Given the description of an element on the screen output the (x, y) to click on. 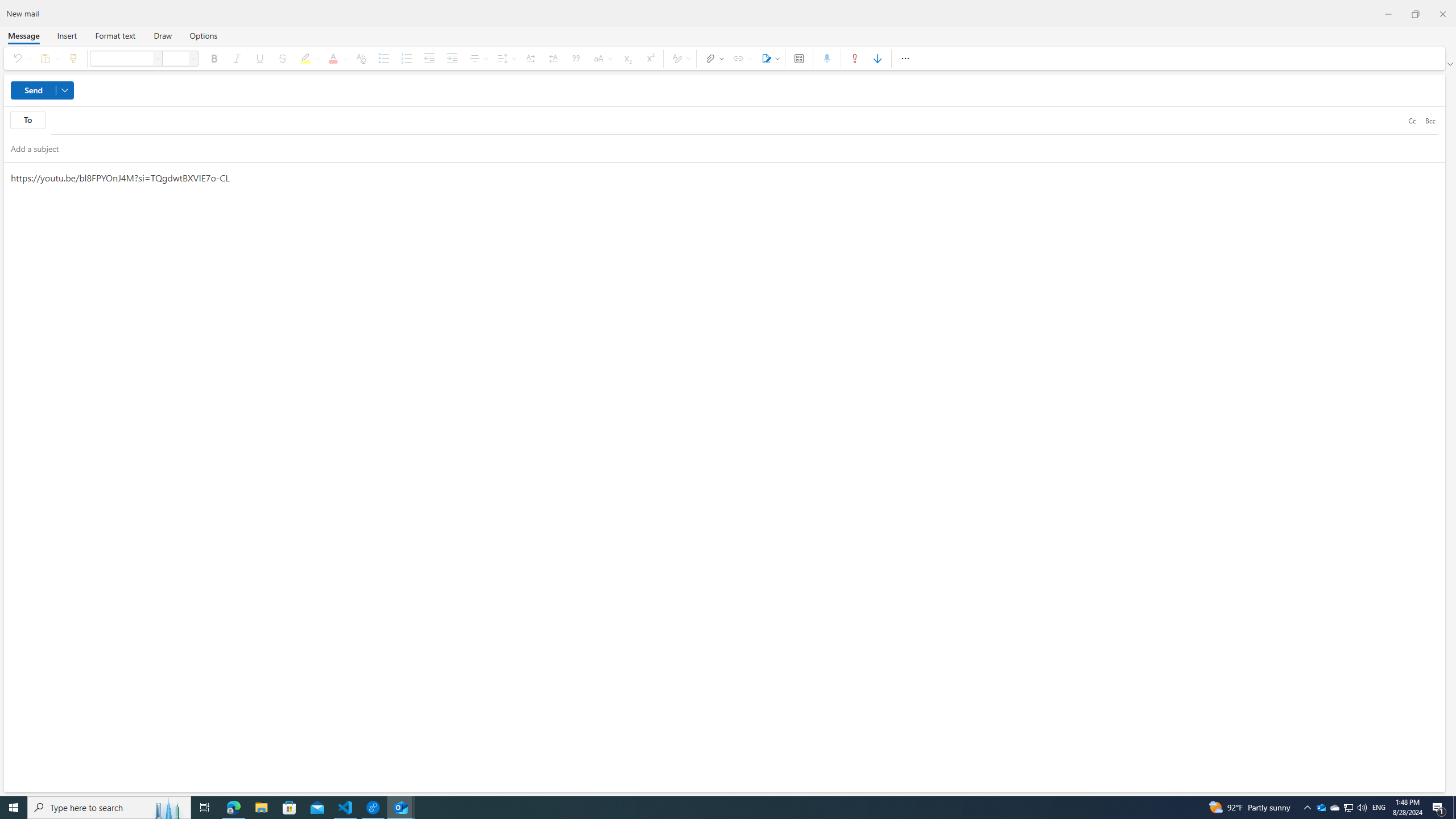
Dictate (826, 58)
Low importance (877, 58)
To (27, 119)
Format text (114, 35)
Add a subject (714, 148)
Underline (259, 58)
Subscript (626, 58)
Attach file (712, 58)
High importance (854, 58)
Numbering (405, 58)
Undo (19, 58)
Text highlight color (307, 58)
More send options (64, 90)
Font size (176, 58)
Font size (193, 58)
